Given the description of an element on the screen output the (x, y) to click on. 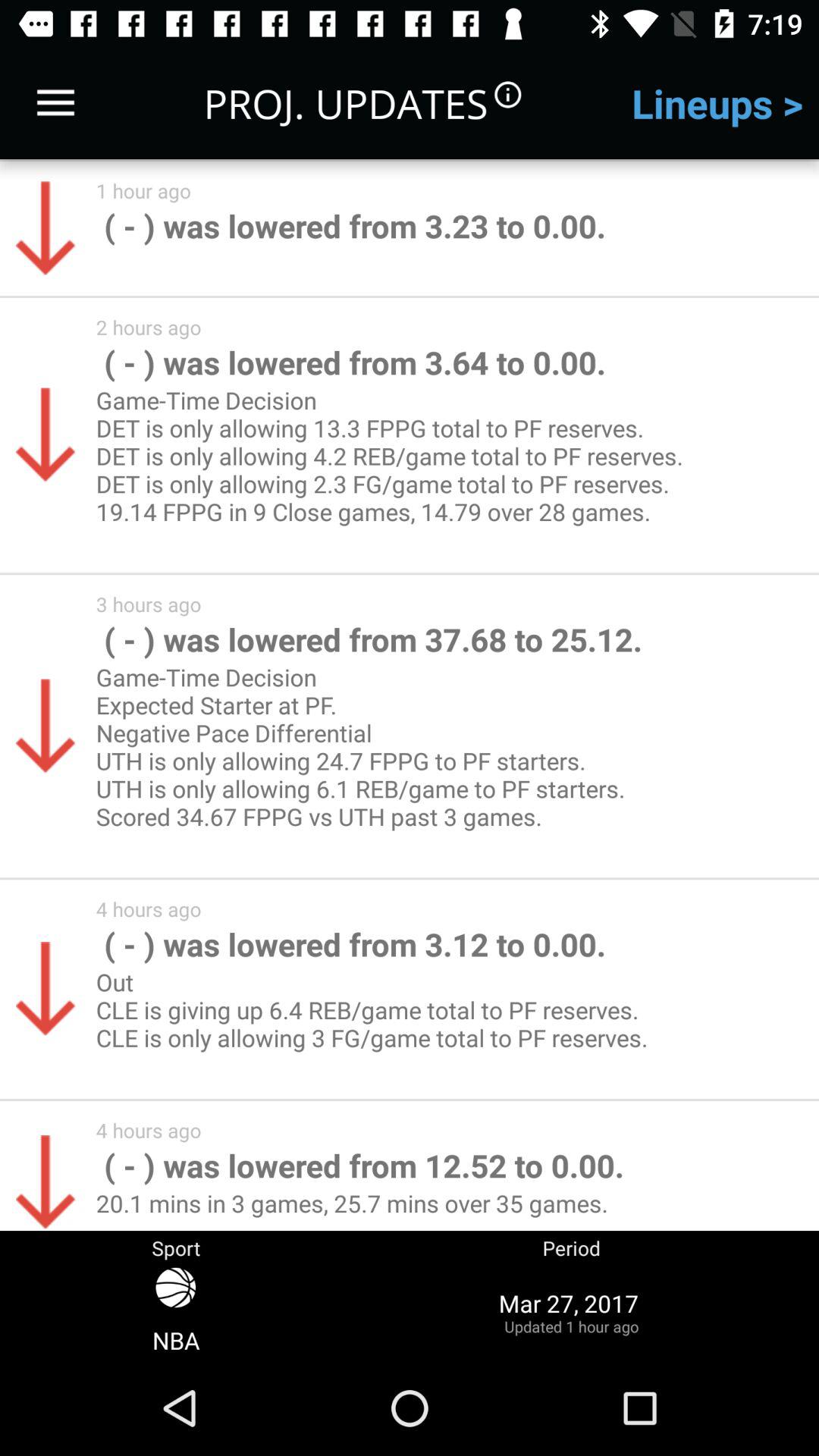
turn off item to the right of sport (571, 1311)
